Given the description of an element on the screen output the (x, y) to click on. 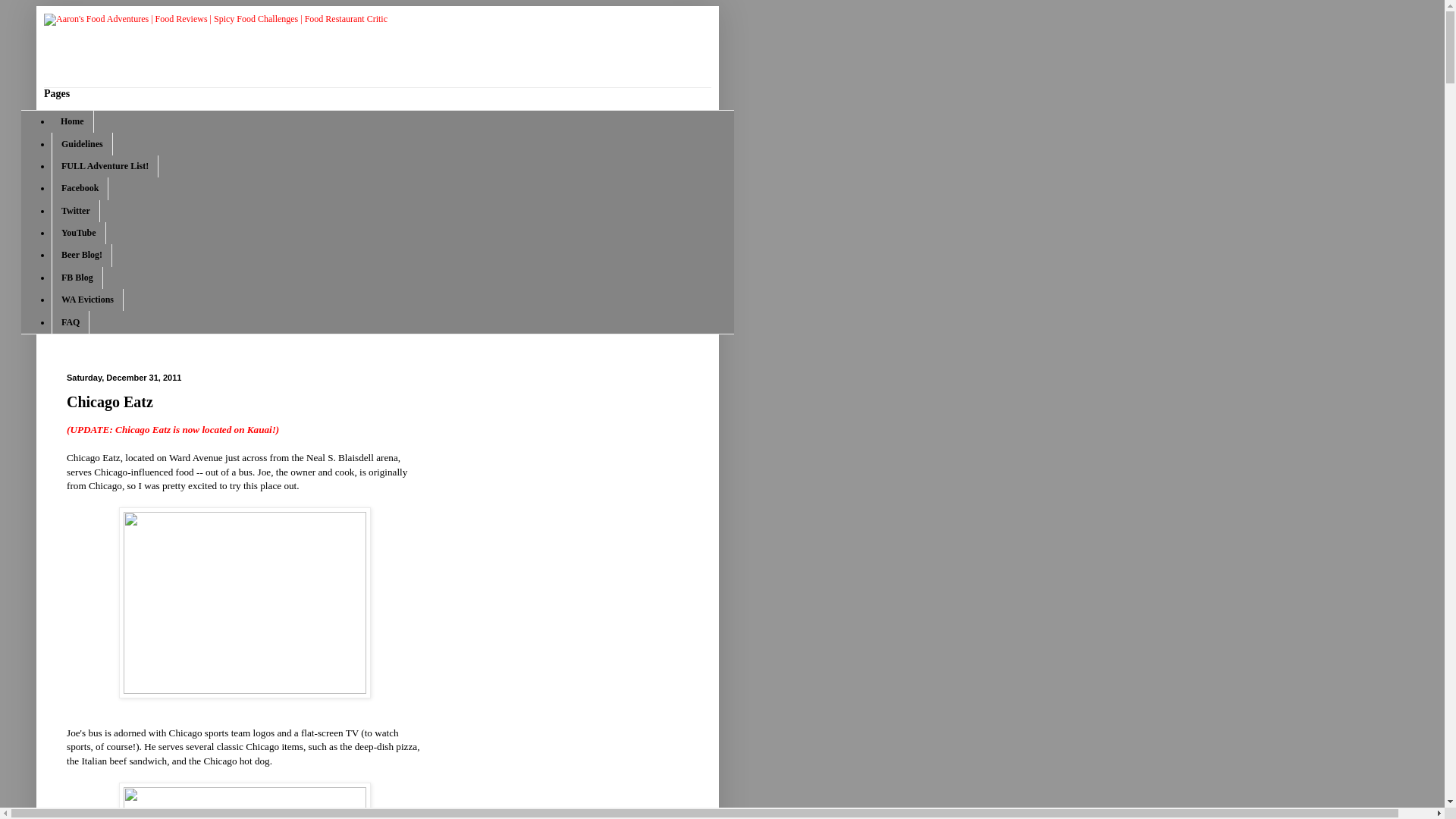
Facebook (78, 188)
Home (72, 121)
FULL Adventure List! (104, 166)
Twitter (75, 210)
FAQ (69, 321)
Beer Blog! (81, 255)
FB Blog (76, 277)
WA Evictions (86, 300)
Guidelines (81, 143)
YouTube (78, 232)
